Given the description of an element on the screen output the (x, y) to click on. 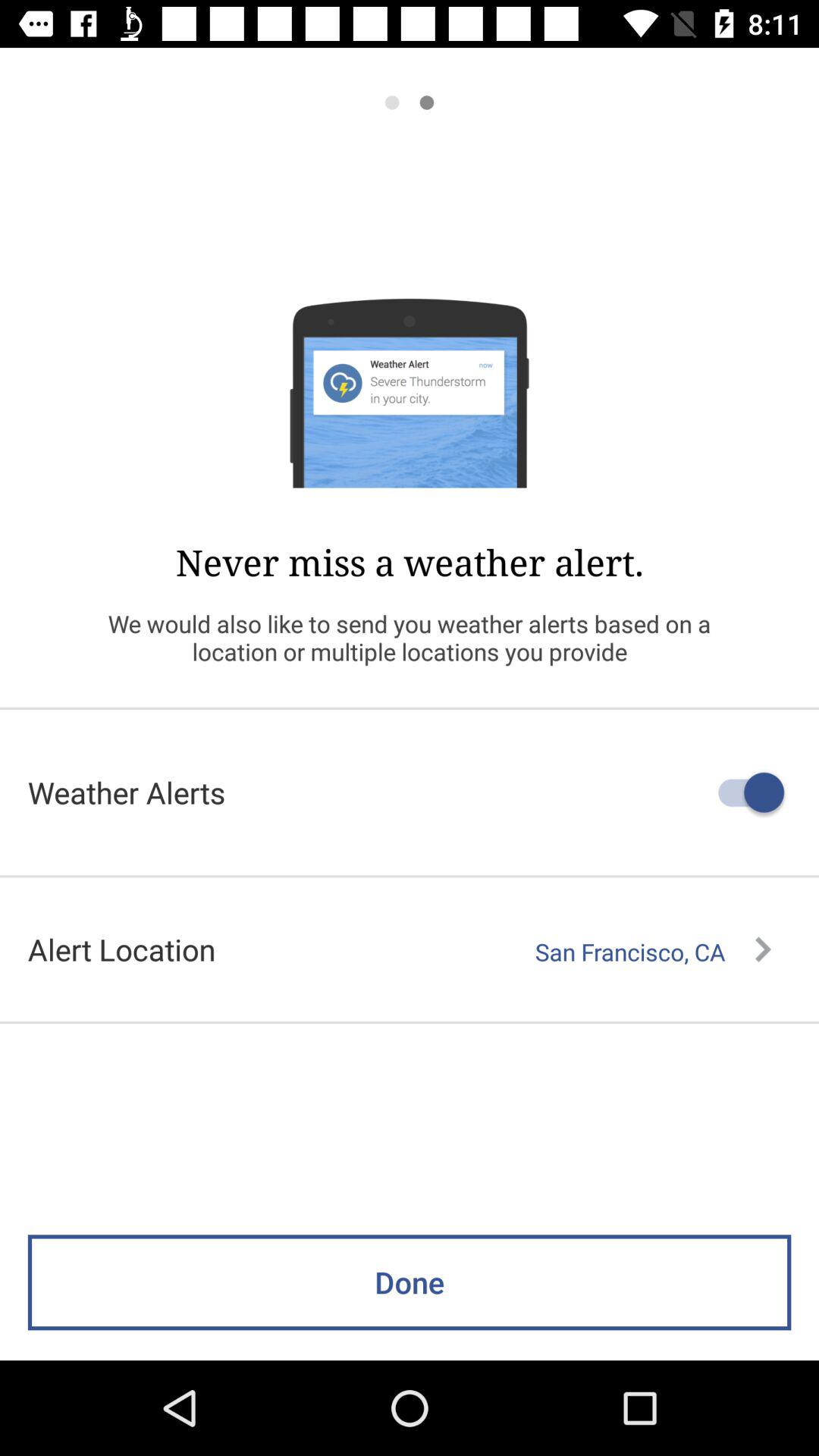
turn off the icon to the right of the alert location icon (653, 951)
